Given the description of an element on the screen output the (x, y) to click on. 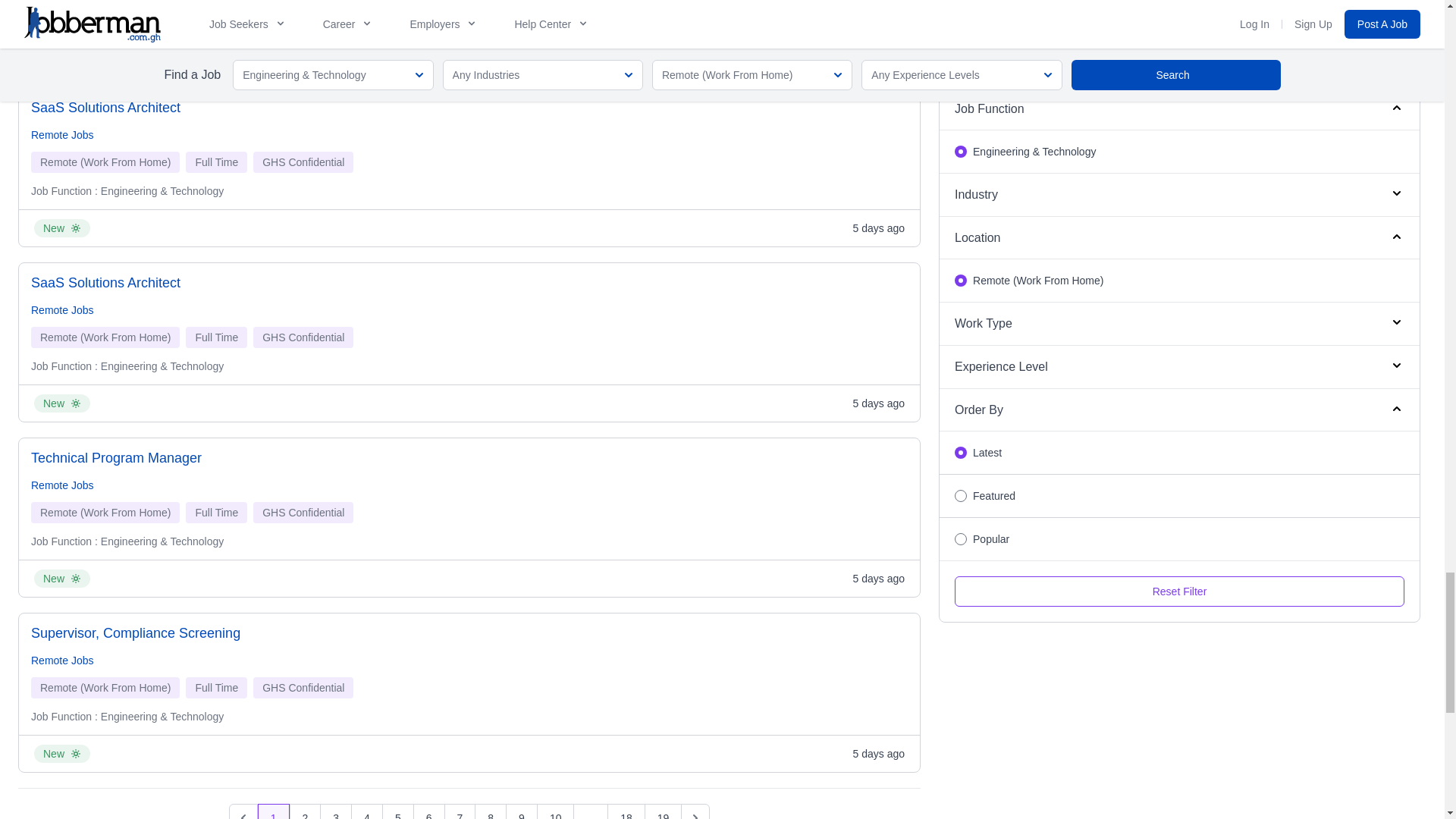
Supervisor, Compliance Screening (135, 632)
Technical Program Manager (116, 457)
SaaS Solutions Architect (105, 107)
SaaS Solutions Architect (105, 282)
